Given the description of an element on the screen output the (x, y) to click on. 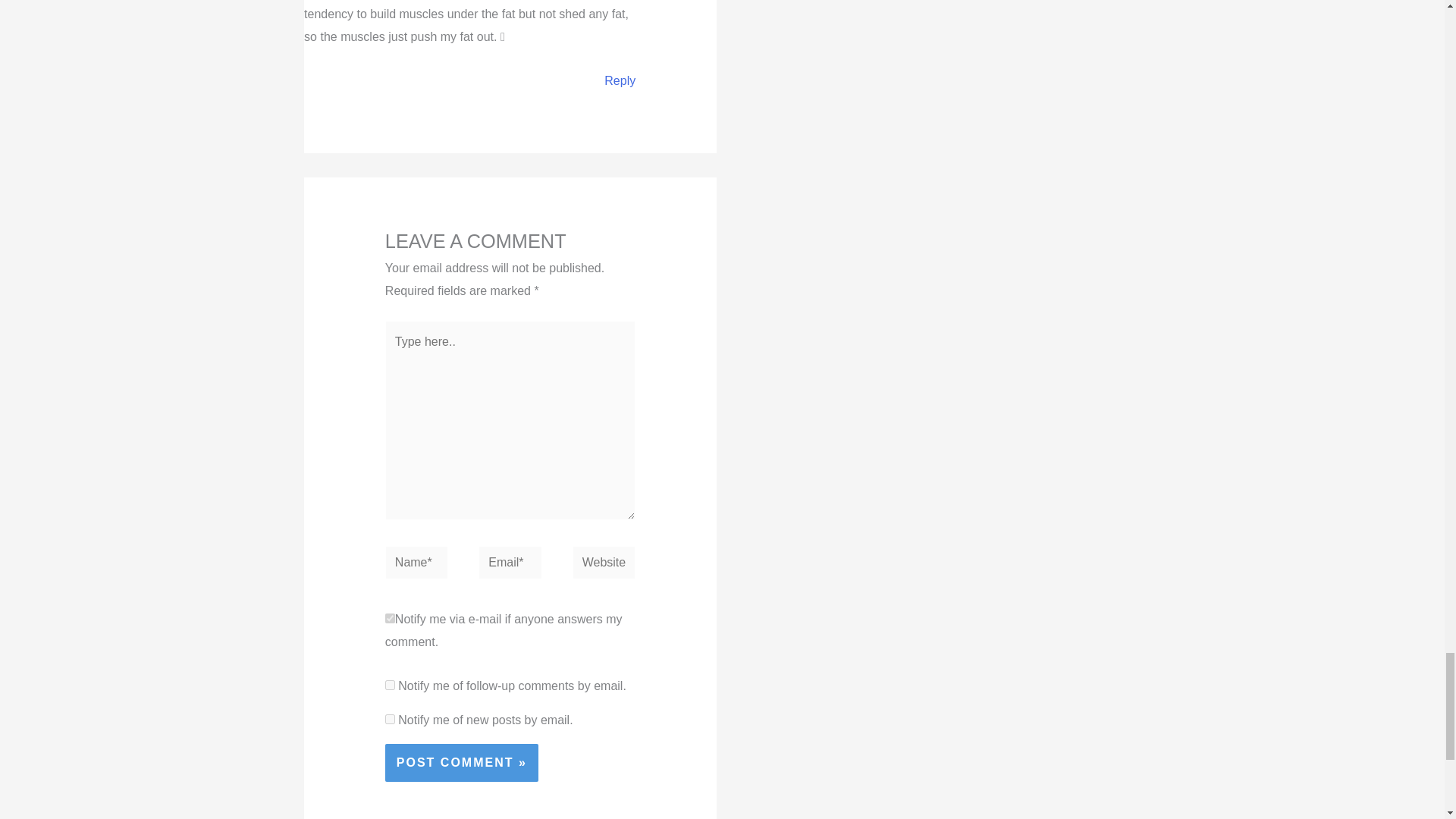
subscribe (389, 718)
subscribe (389, 685)
on (389, 618)
